Given the description of an element on the screen output the (x, y) to click on. 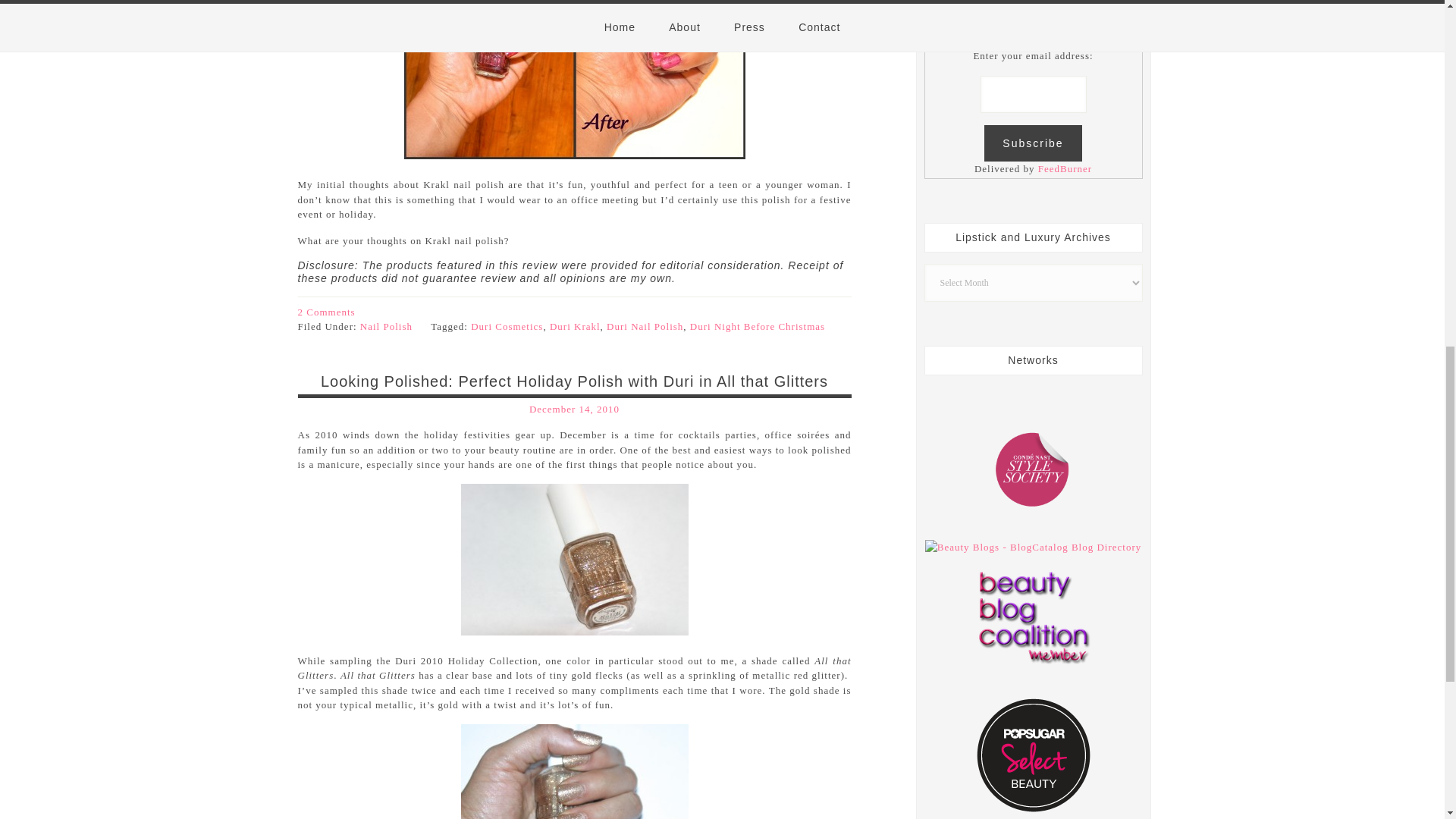
Duri-Krakl-Nail-polish-Swatch (573, 79)
Duri Night Before Christmas (757, 326)
Beauty Blogs - BlogCatalog Blog Directory (1032, 546)
Subscribe (1032, 143)
Subscribe (1032, 143)
Nail Polish (385, 326)
Duri 2010 Holiday Collection - All that Glitters (574, 771)
2 Comments (326, 311)
Duri Cosmetics (506, 326)
Duri All that Glitters Nail Polish (574, 559)
Duri Nail Polish (644, 326)
FeedBurner (1065, 168)
Duri Krakl (574, 326)
